Given the description of an element on the screen output the (x, y) to click on. 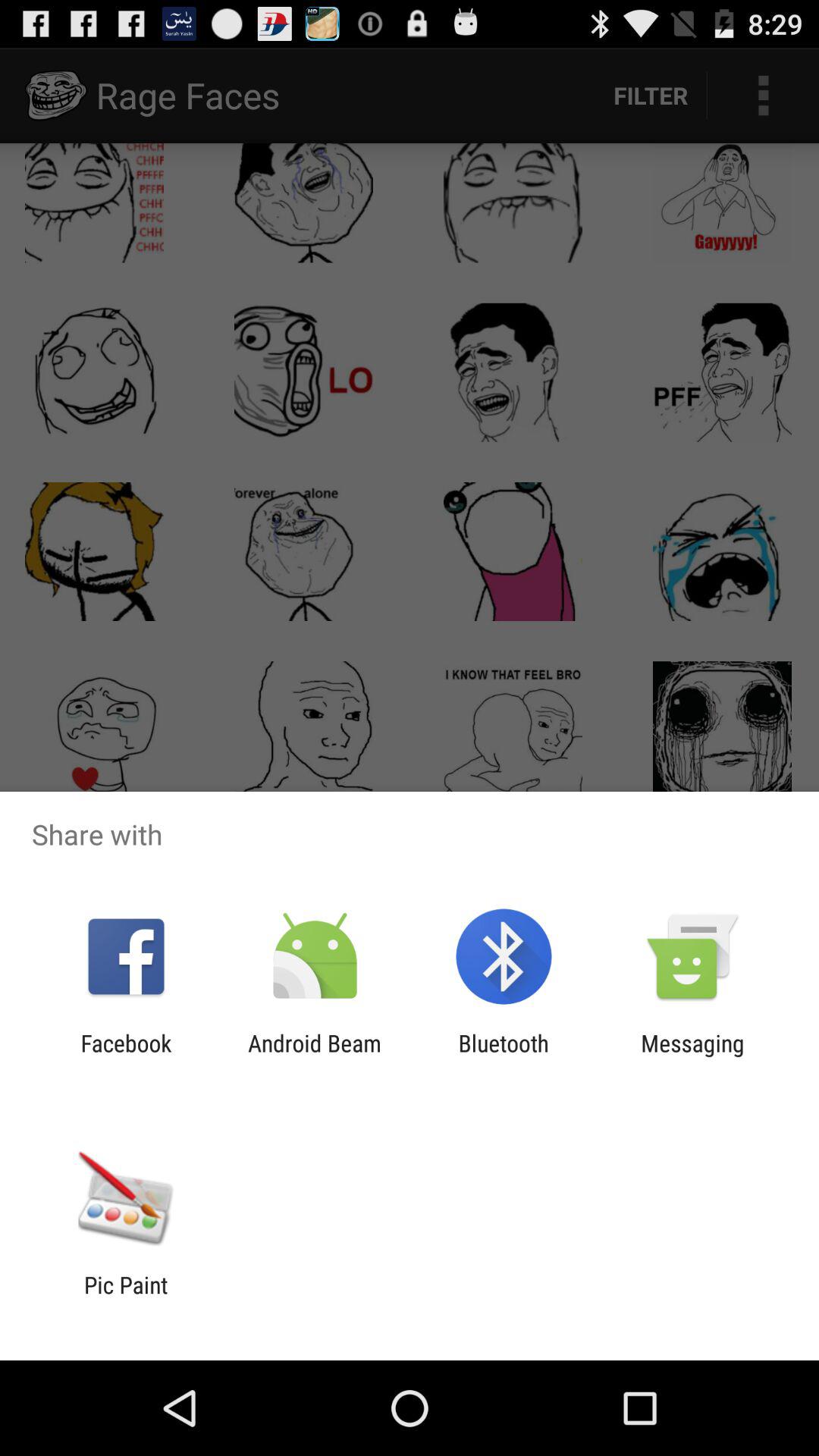
scroll until messaging icon (692, 1056)
